Given the description of an element on the screen output the (x, y) to click on. 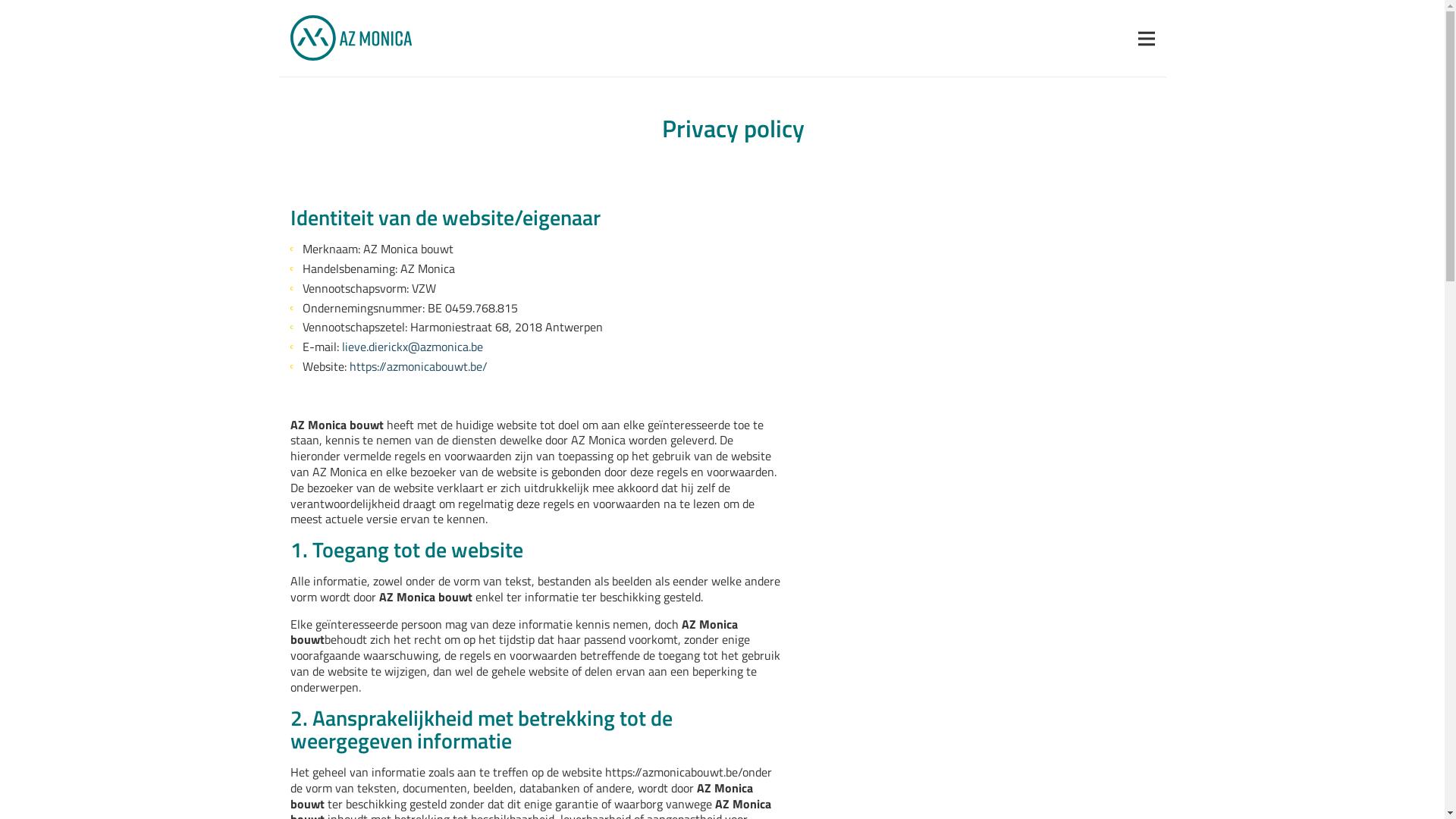
https://azmonicabouwt.be/ Element type: text (417, 366)
lieve.dierickx@azmonica.be Element type: text (411, 346)
